Given the description of an element on the screen output the (x, y) to click on. 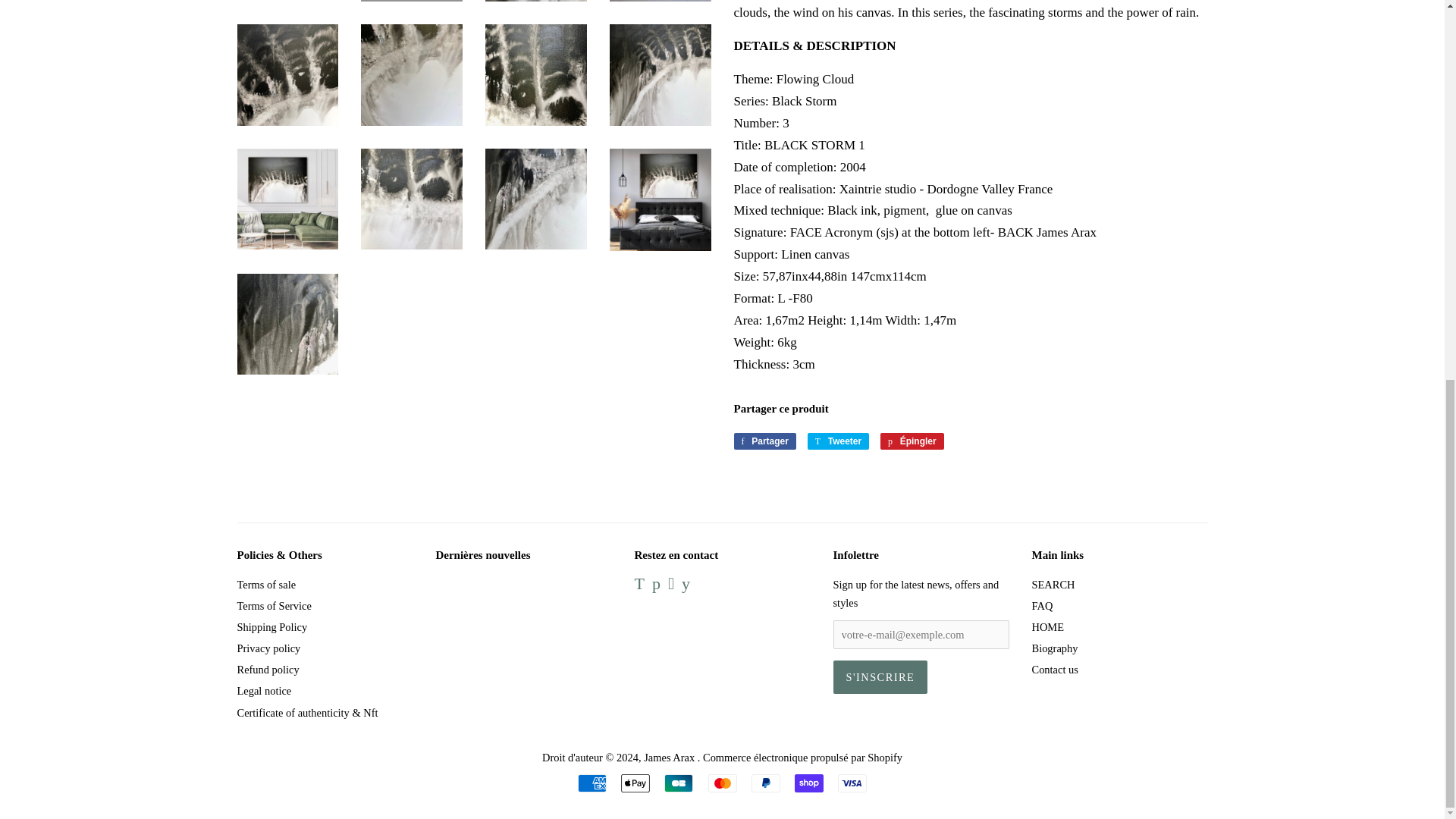
American Express (592, 782)
S'inscrire (879, 676)
PayPal (765, 782)
Cartes Bancaires (678, 782)
Mastercard (721, 782)
Shop Pay (809, 782)
Tweeter sur Twitter (838, 441)
Apple Pay (635, 782)
Visa (852, 782)
Partager sur Facebook (764, 441)
